Given the description of an element on the screen output the (x, y) to click on. 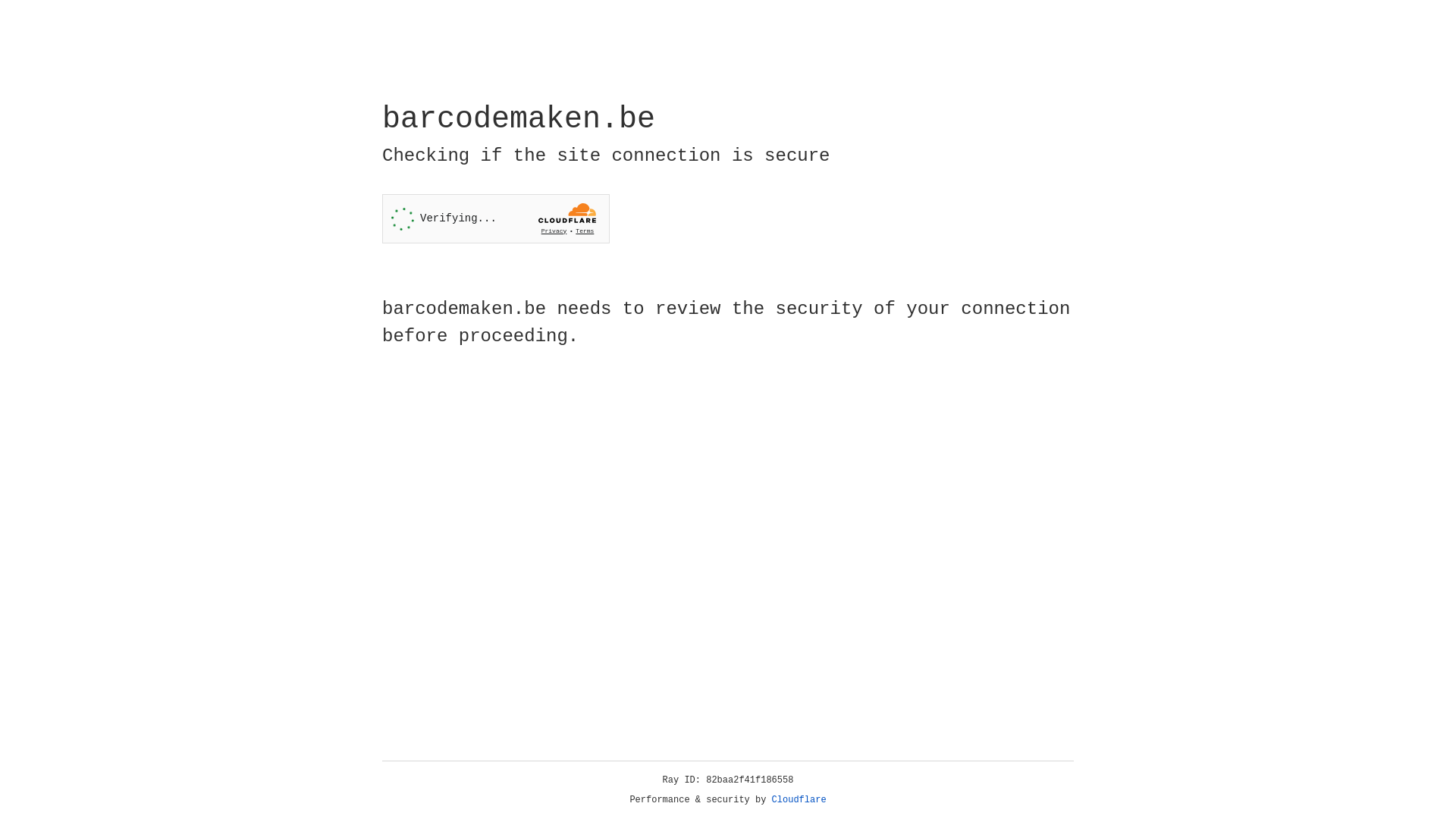
Widget containing a Cloudflare security challenge Element type: hover (495, 218)
Cloudflare Element type: text (798, 799)
